Given the description of an element on the screen output the (x, y) to click on. 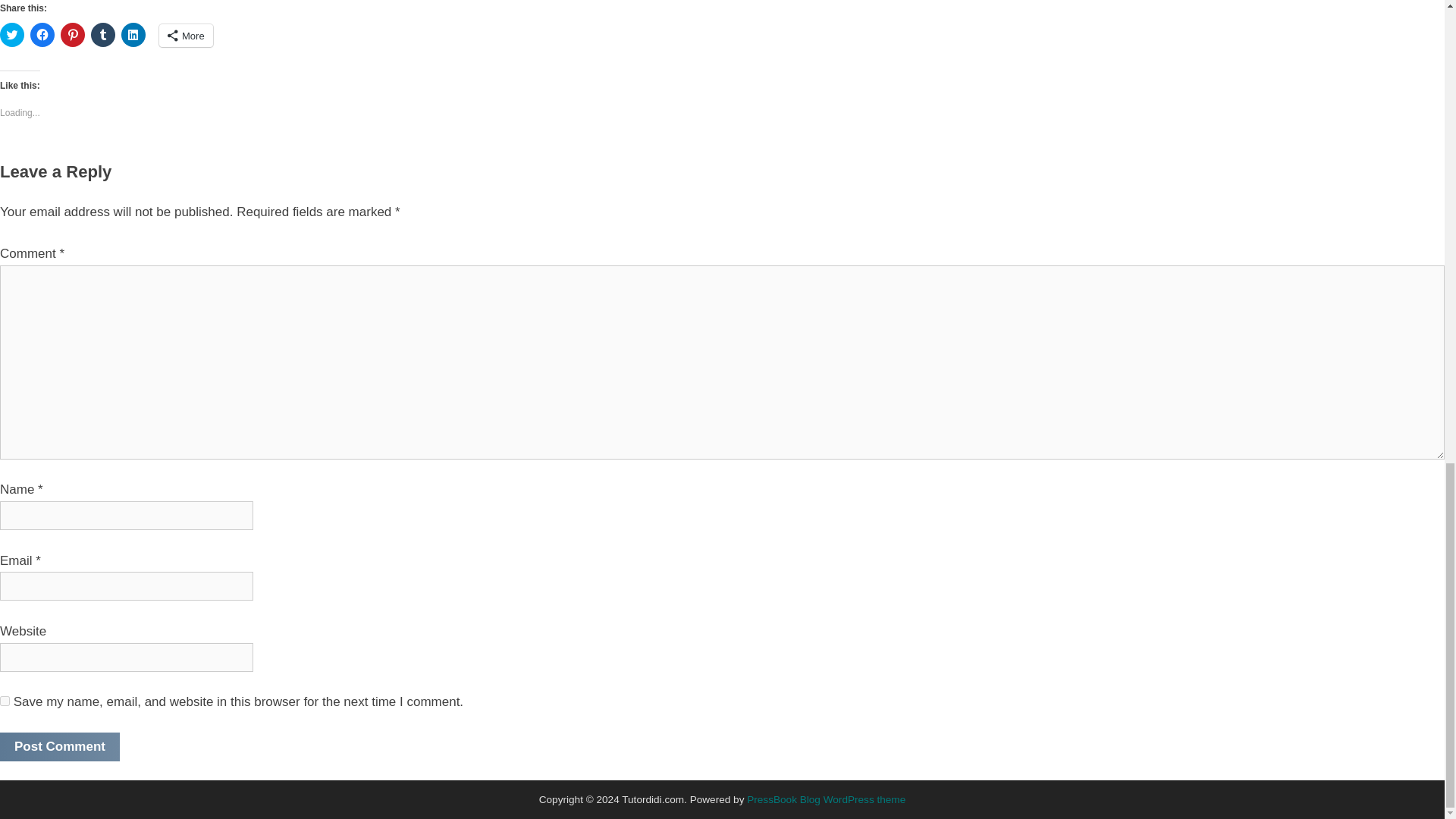
Click to share on LinkedIn (132, 34)
PressBook Blog WordPress theme (825, 799)
Click to share on Twitter (12, 34)
Post Comment (59, 746)
Click to share on Tumblr (102, 34)
Post Comment (59, 746)
yes (5, 700)
Click to share on Pinterest (72, 34)
More (185, 35)
Click to share on Facebook (42, 34)
